Given the description of an element on the screen output the (x, y) to click on. 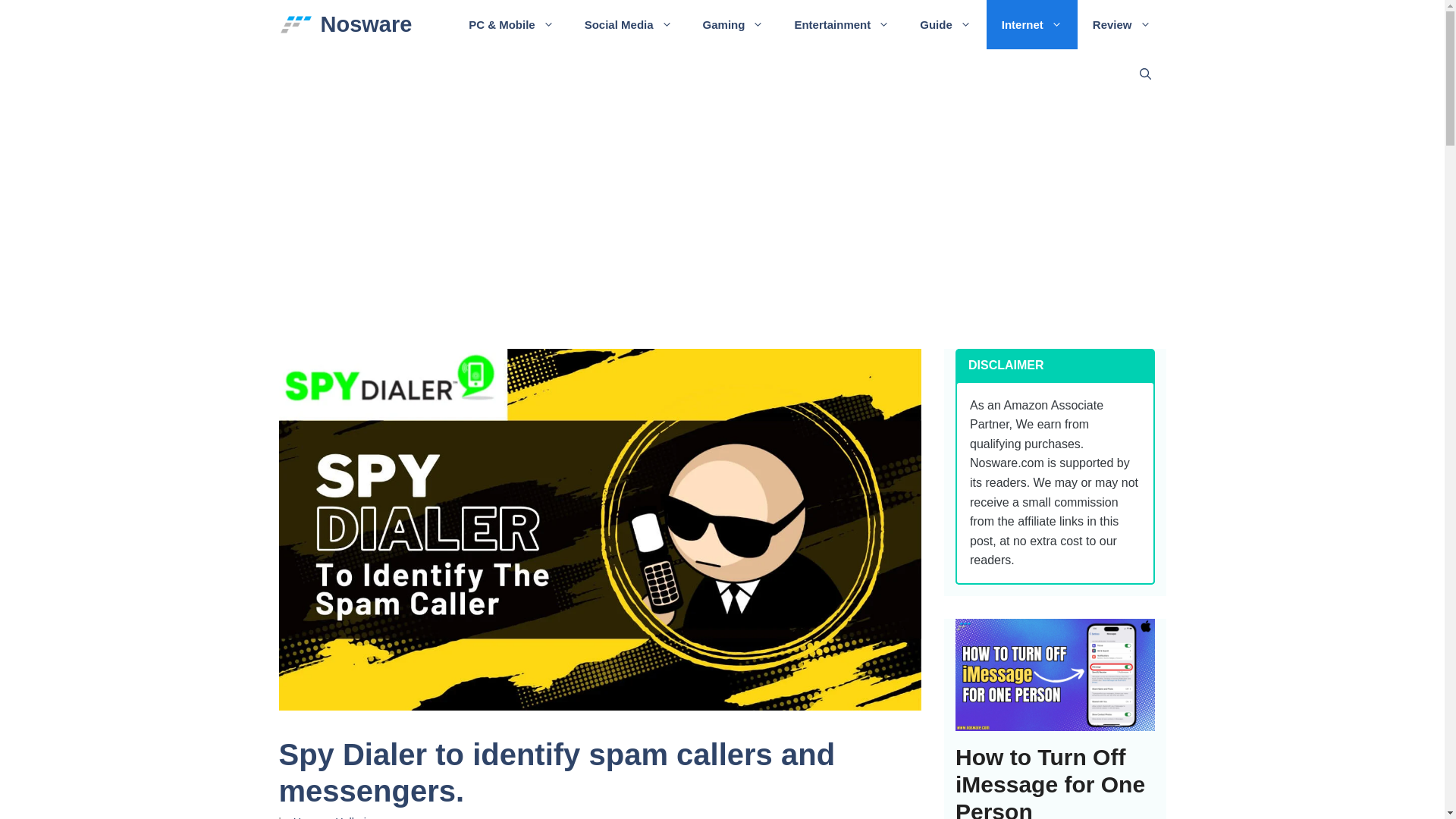
Nosware (366, 24)
Entertainment (841, 24)
Gaming (732, 24)
View all posts by Humera Hallari (330, 817)
Social Media (628, 24)
Guide (945, 24)
Internet (1032, 24)
Review (1121, 24)
